Given the description of an element on the screen output the (x, y) to click on. 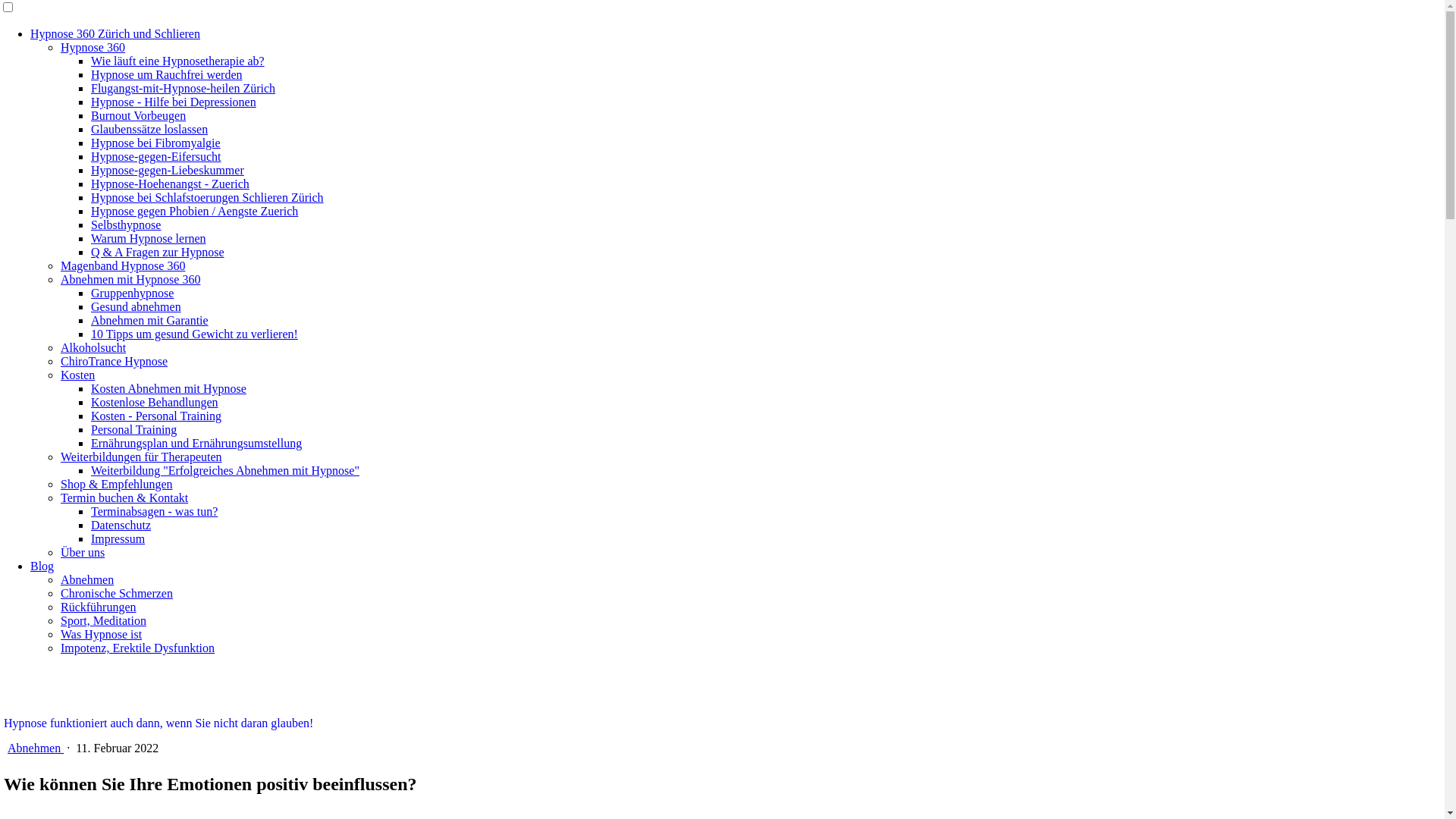
Alkoholsucht Element type: text (92, 347)
Chronische Schmerzen Element type: text (116, 592)
Abnehmen Element type: text (86, 579)
Abnehmen mit Hypnose 360 Element type: text (130, 279)
Kostenlose Behandlungen Element type: text (154, 401)
10 Tipps um gesund Gewicht zu verlieren! Element type: text (194, 333)
Abnehmen mit Garantie Element type: text (149, 319)
Warum Hypnose lernen Element type: text (148, 238)
Hypnose-gegen-Eifersucht Element type: text (156, 156)
Terminabsagen - was tun? Element type: text (154, 511)
Blog Element type: text (41, 565)
Hypnose um Rauchfrei werden Element type: text (166, 74)
ChiroTrance Hypnose Element type: text (113, 360)
Hypnose gegen Phobien / Aengste Zuerich Element type: text (194, 210)
Sport, Meditation Element type: text (103, 620)
Impotenz, Erektile Dysfunktion Element type: text (137, 647)
Hypnose-gegen-Liebeskummer Element type: text (167, 169)
Q & A Fragen zur Hypnose Element type: text (157, 251)
Gesund abnehmen Element type: text (136, 306)
Shop & Empfehlungen Element type: text (116, 483)
Gruppenhypnose Element type: text (132, 292)
Hypnose-Hoehenangst - Zuerich Element type: text (170, 183)
Kosten - Personal Training Element type: text (156, 415)
Was Hypnose ist Element type: text (100, 633)
Abnehmen Element type: text (35, 747)
Termin buchen & Kontakt Element type: text (124, 497)
Kosten Abnehmen mit Hypnose Element type: text (168, 388)
Magenband Hypnose 360 Element type: text (122, 265)
Kosten Element type: text (77, 374)
Impressum Element type: text (117, 538)
Personal Training Element type: text (133, 429)
Hypnose 360 Element type: text (92, 46)
Burnout Vorbeugen Element type: text (138, 115)
Hypnose - Hilfe bei Depressionen Element type: text (173, 101)
Datenschutz Element type: text (120, 524)
Weiterbildung "Erfolgreiches Abnehmen mit Hypnose" Element type: text (225, 470)
Hypnose bei Fibromyalgie Element type: text (155, 142)
Selbsthypnose Element type: text (125, 224)
